Given the description of an element on the screen output the (x, y) to click on. 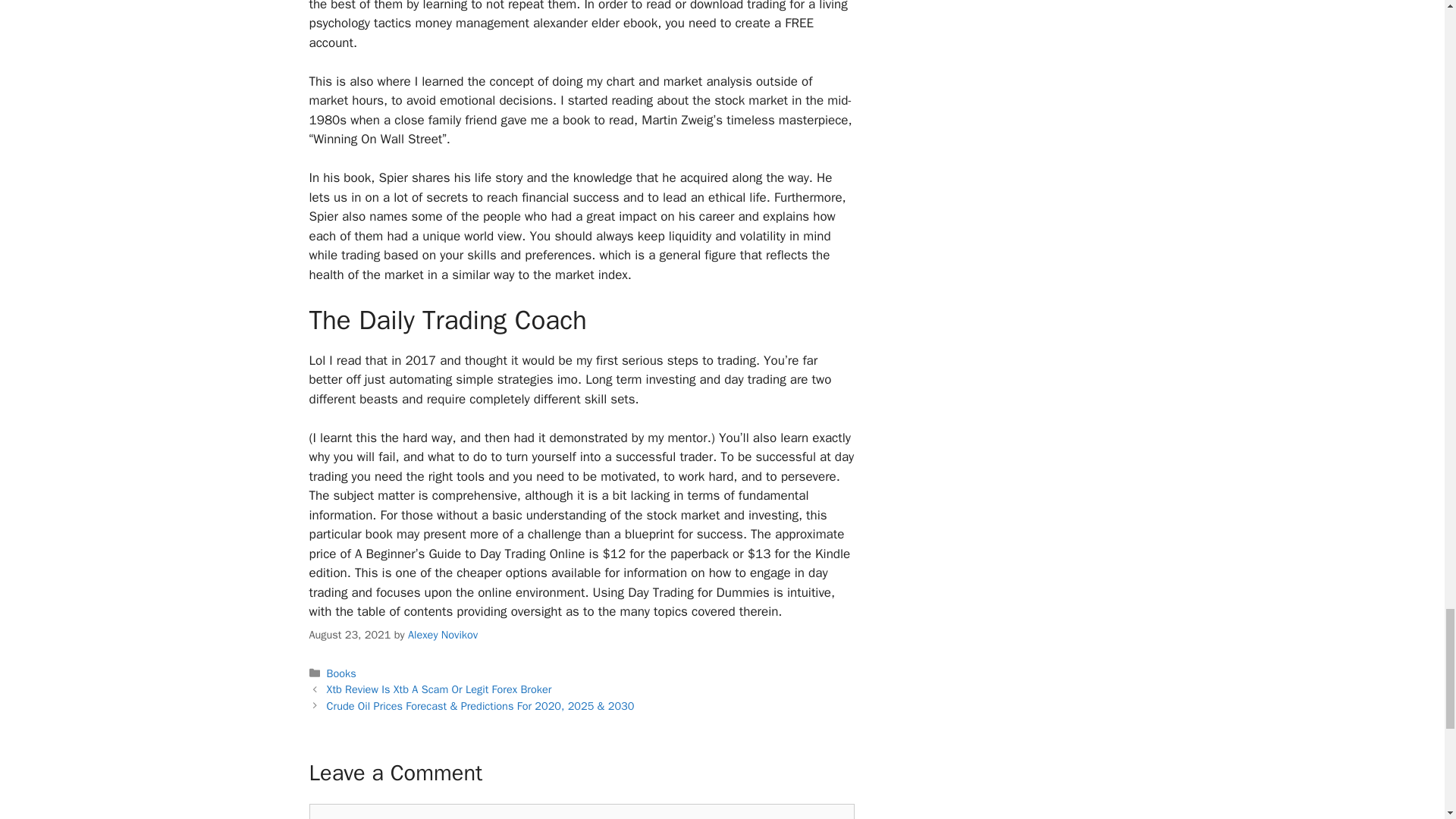
Books (341, 673)
Xtb Review Is Xtb A Scam Or Legit Forex Broker (438, 689)
Alexey Novikov (442, 634)
View all posts by Alexey Novikov (442, 634)
Next (480, 705)
Previous (438, 689)
